Given the description of an element on the screen output the (x, y) to click on. 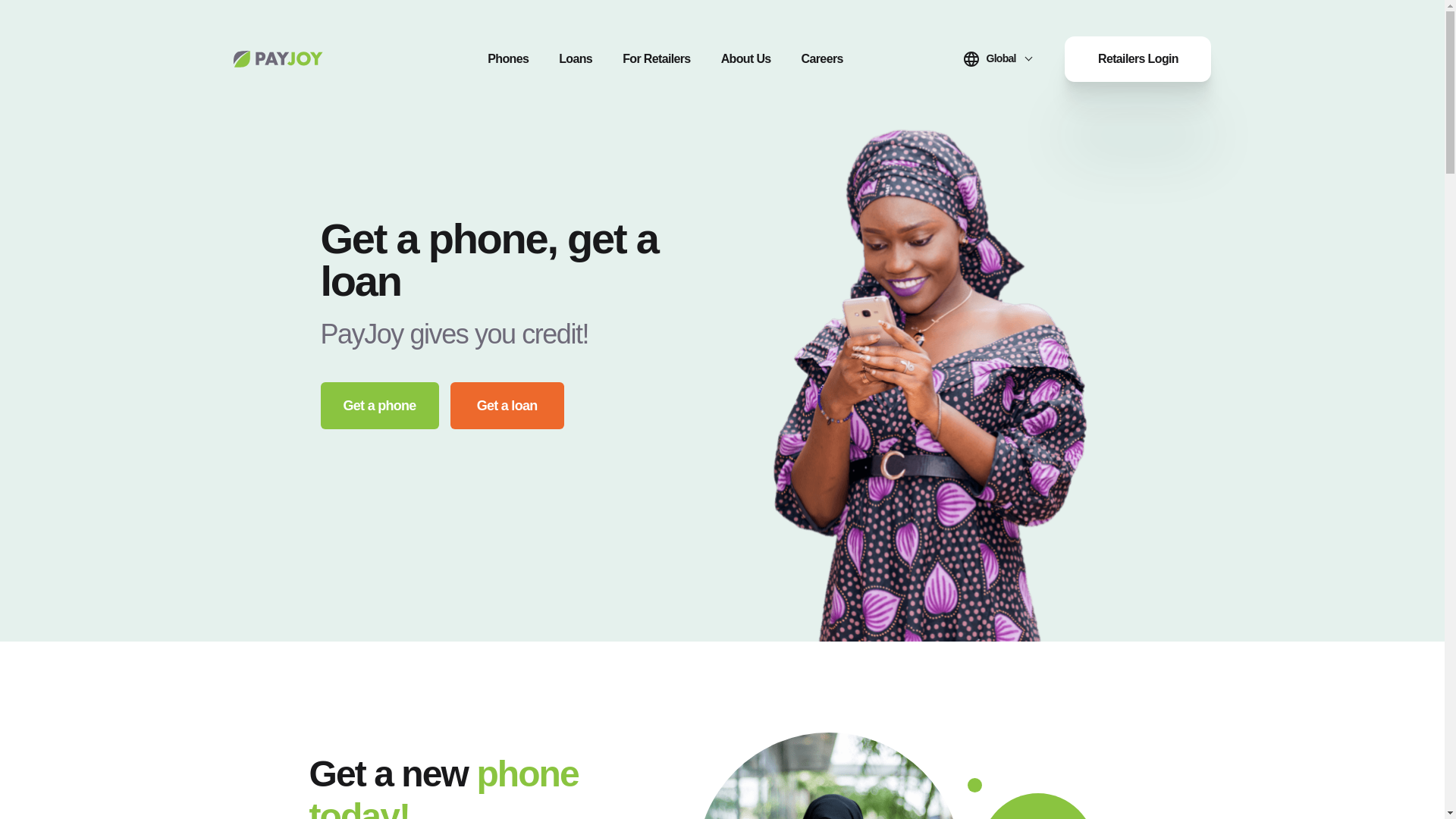
Careers (821, 58)
Get a phone (379, 405)
Get a loan (506, 405)
Retailers Login (1137, 58)
For Retailers (656, 58)
About Us (746, 58)
Loans (575, 58)
Phones (507, 58)
